Given the description of an element on the screen output the (x, y) to click on. 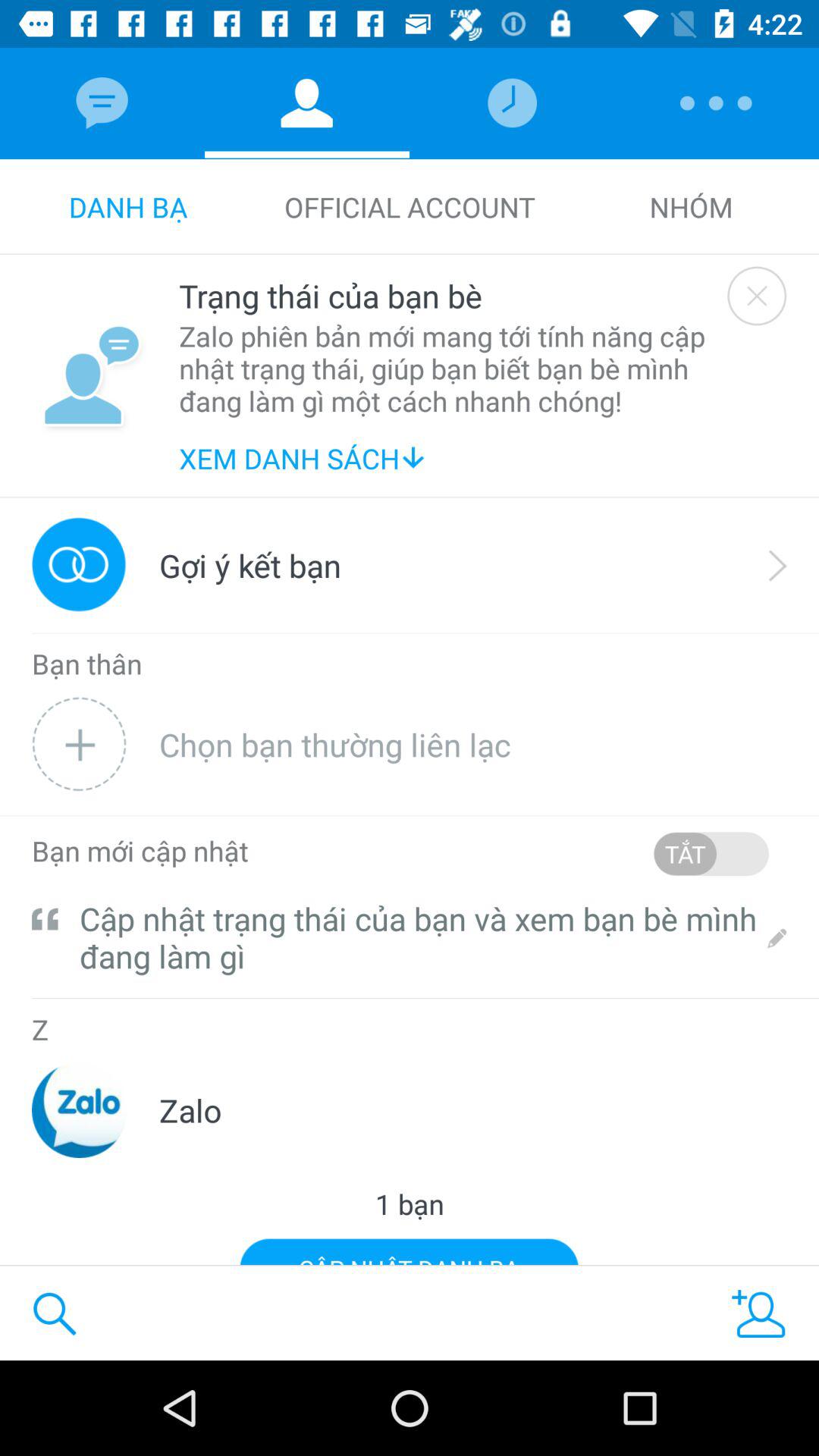
turn on item to the right of the official account (691, 206)
